Given the description of an element on the screen output the (x, y) to click on. 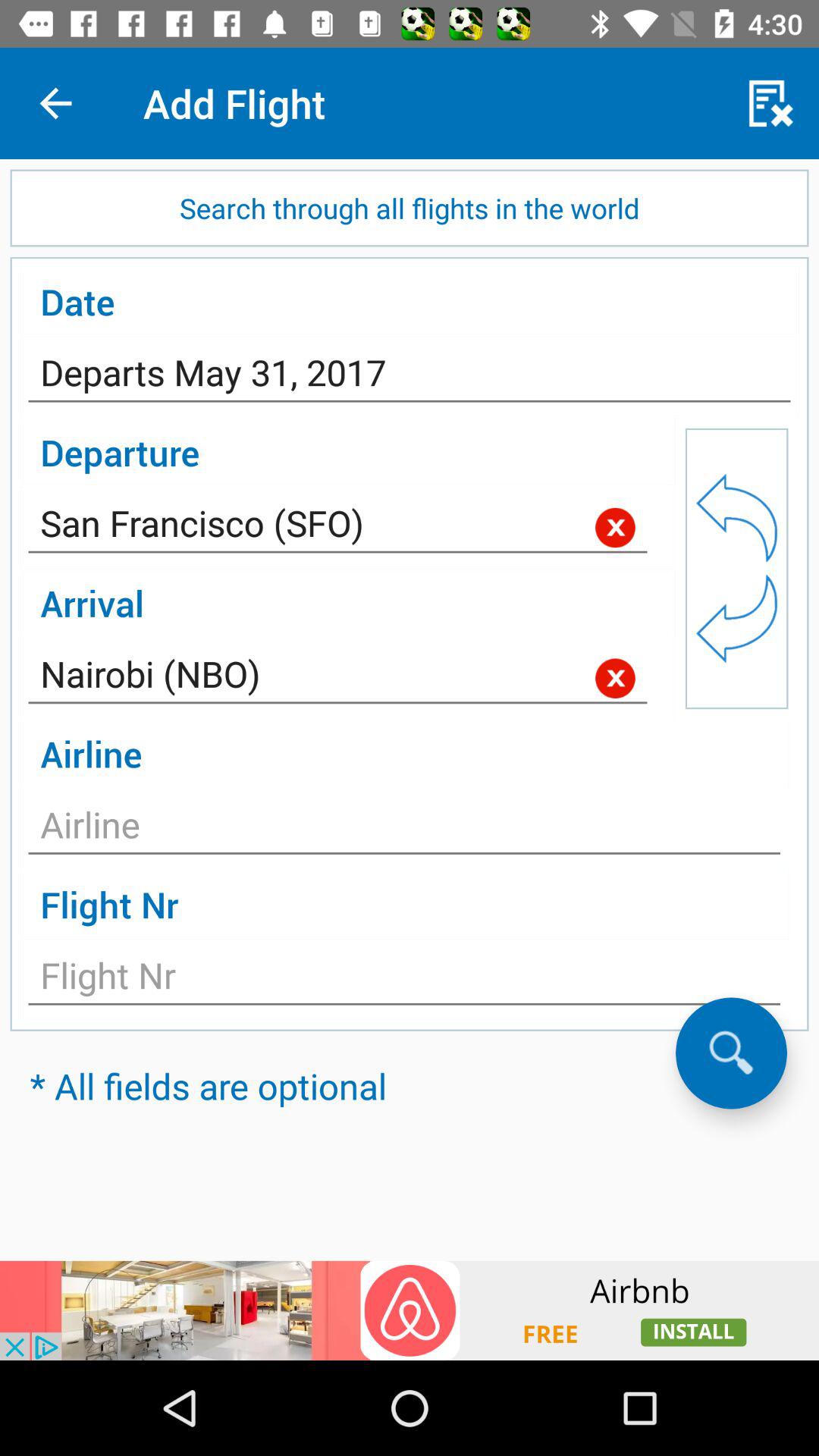
all fields are optional (731, 1053)
